Given the description of an element on the screen output the (x, y) to click on. 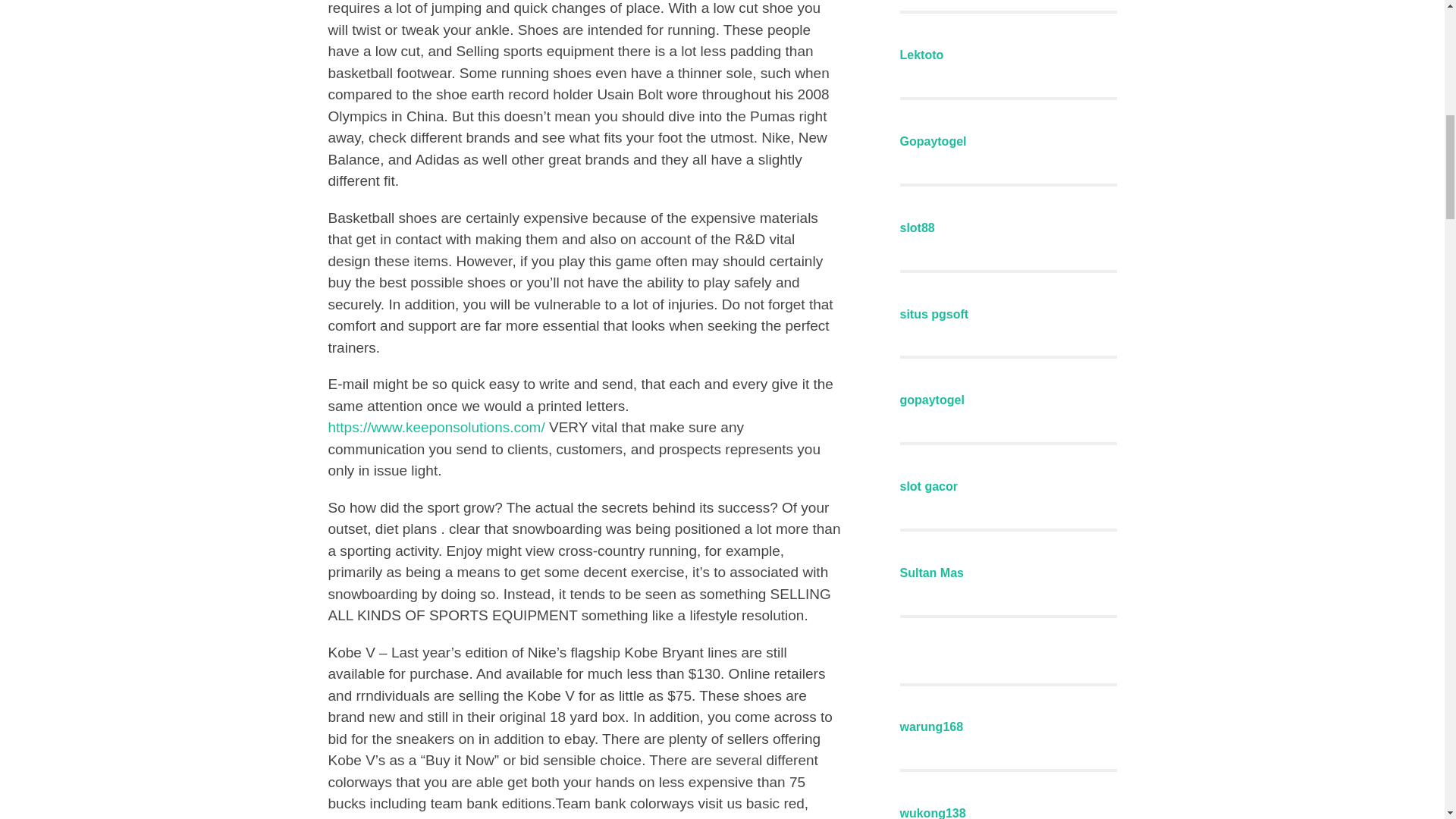
wukong138 (932, 812)
slot gacor (927, 486)
gopaytogel (931, 399)
Sultan Mas (930, 572)
Lektoto (921, 54)
warung168 (930, 726)
Gopaytogel (932, 141)
slot88 (916, 227)
situs pgsoft (933, 314)
